Given the description of an element on the screen output the (x, y) to click on. 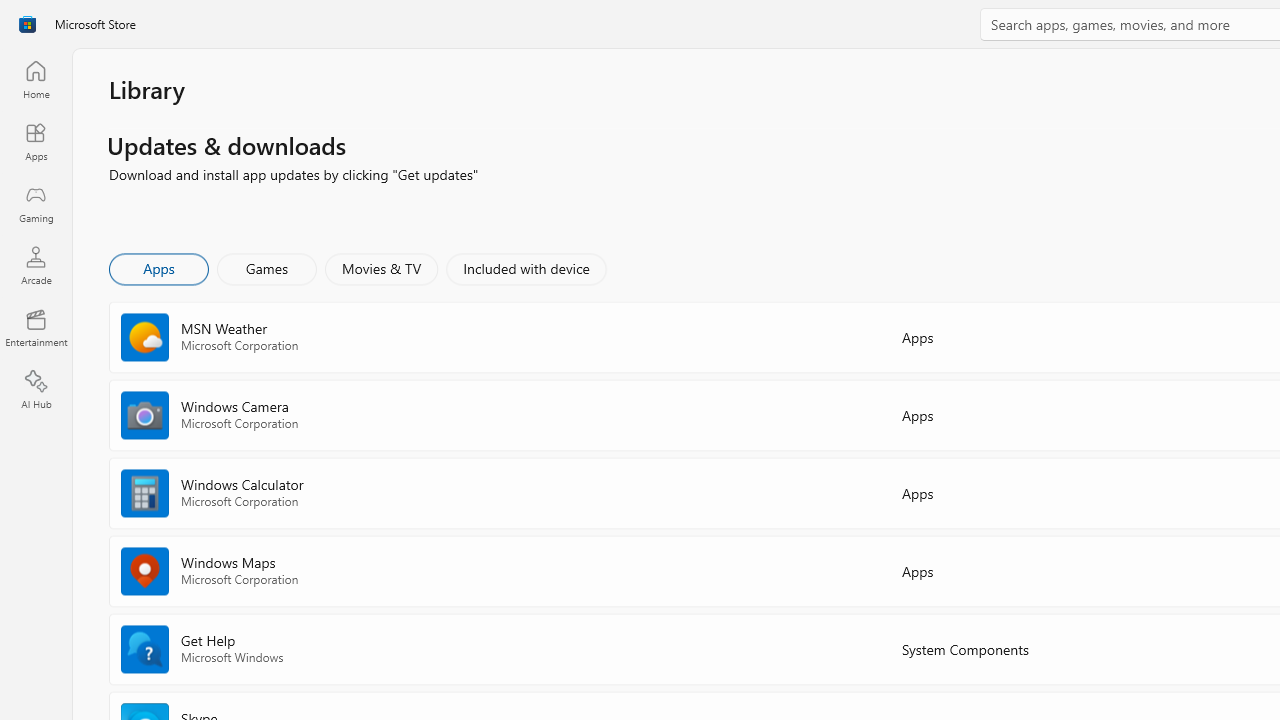
Games (267, 268)
Movies & TV (381, 268)
Included with device (525, 268)
